Given the description of an element on the screen output the (x, y) to click on. 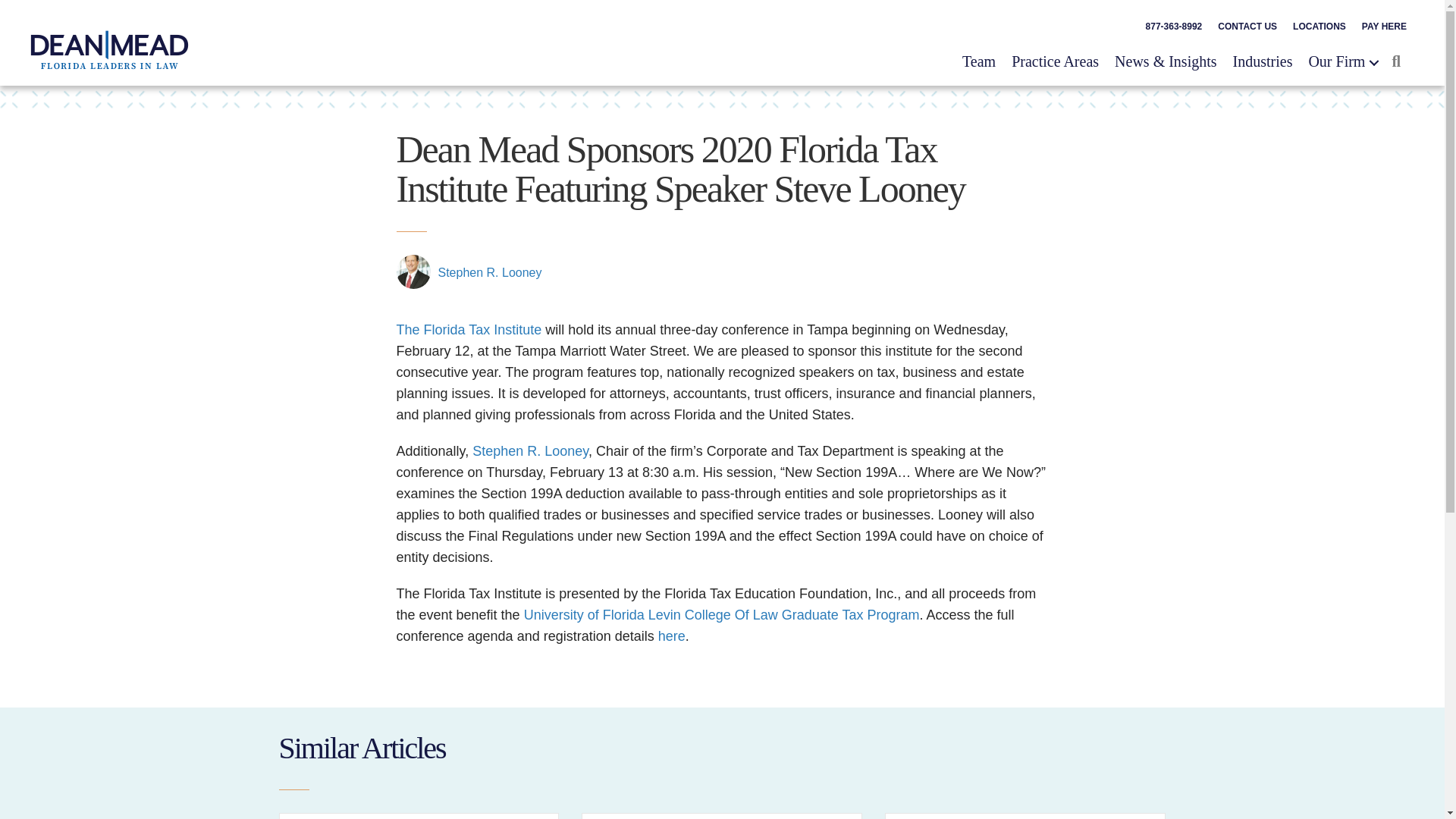
DM-Logos-color (109, 49)
LOCATIONS (1319, 26)
CONTACT US (1246, 26)
PAY HERE (1383, 26)
877-363-8992 (1173, 26)
